Given the description of an element on the screen output the (x, y) to click on. 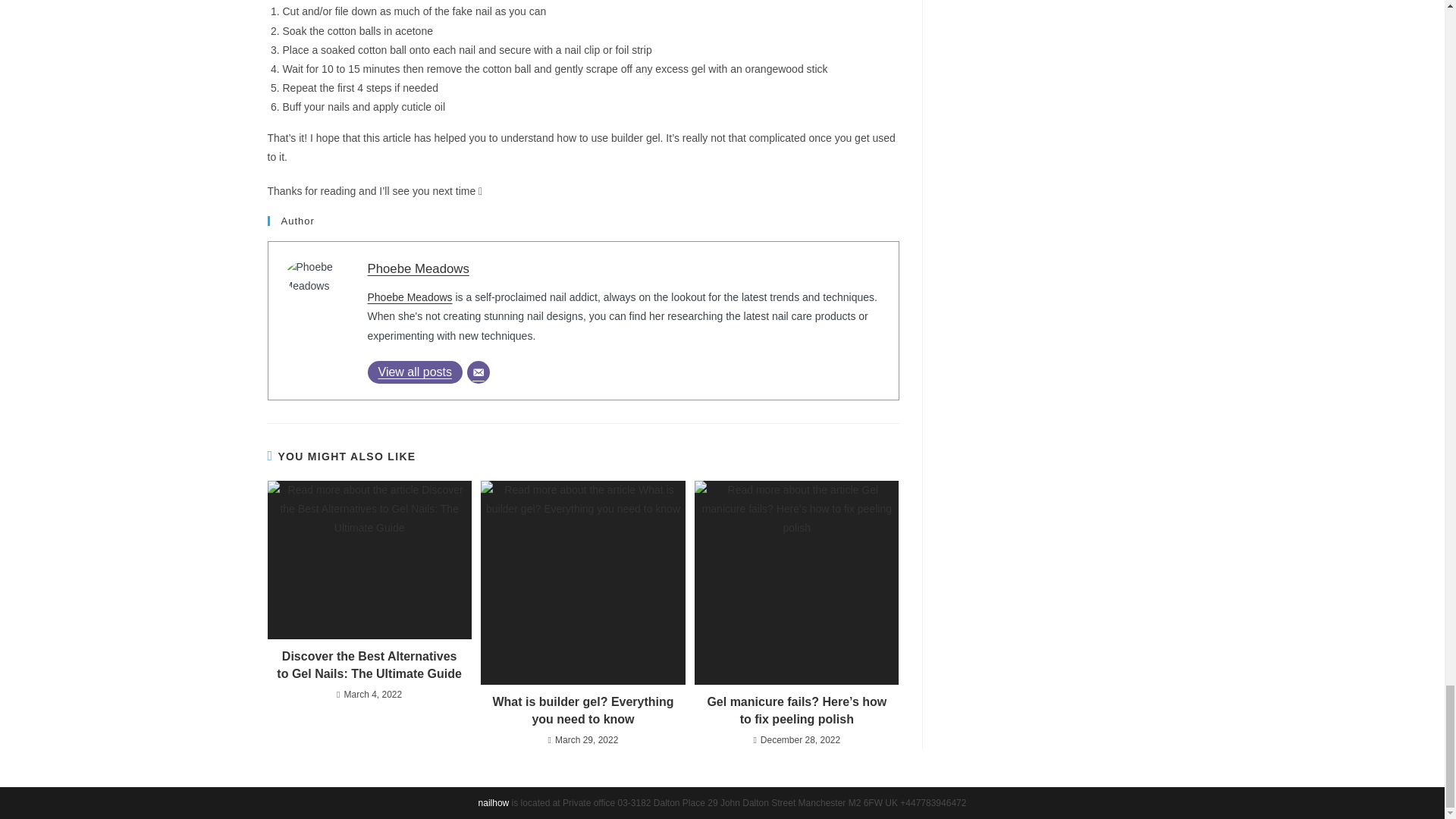
How to use builder gel. Everything you need to know 4 (324, 276)
What is builder gel? Everything you need to know 10 (582, 582)
Gel manicure fails? Here's how to fix peeling polish 11 (796, 582)
Phoebe Meadows (417, 268)
View all posts (414, 372)
